Given the description of an element on the screen output the (x, y) to click on. 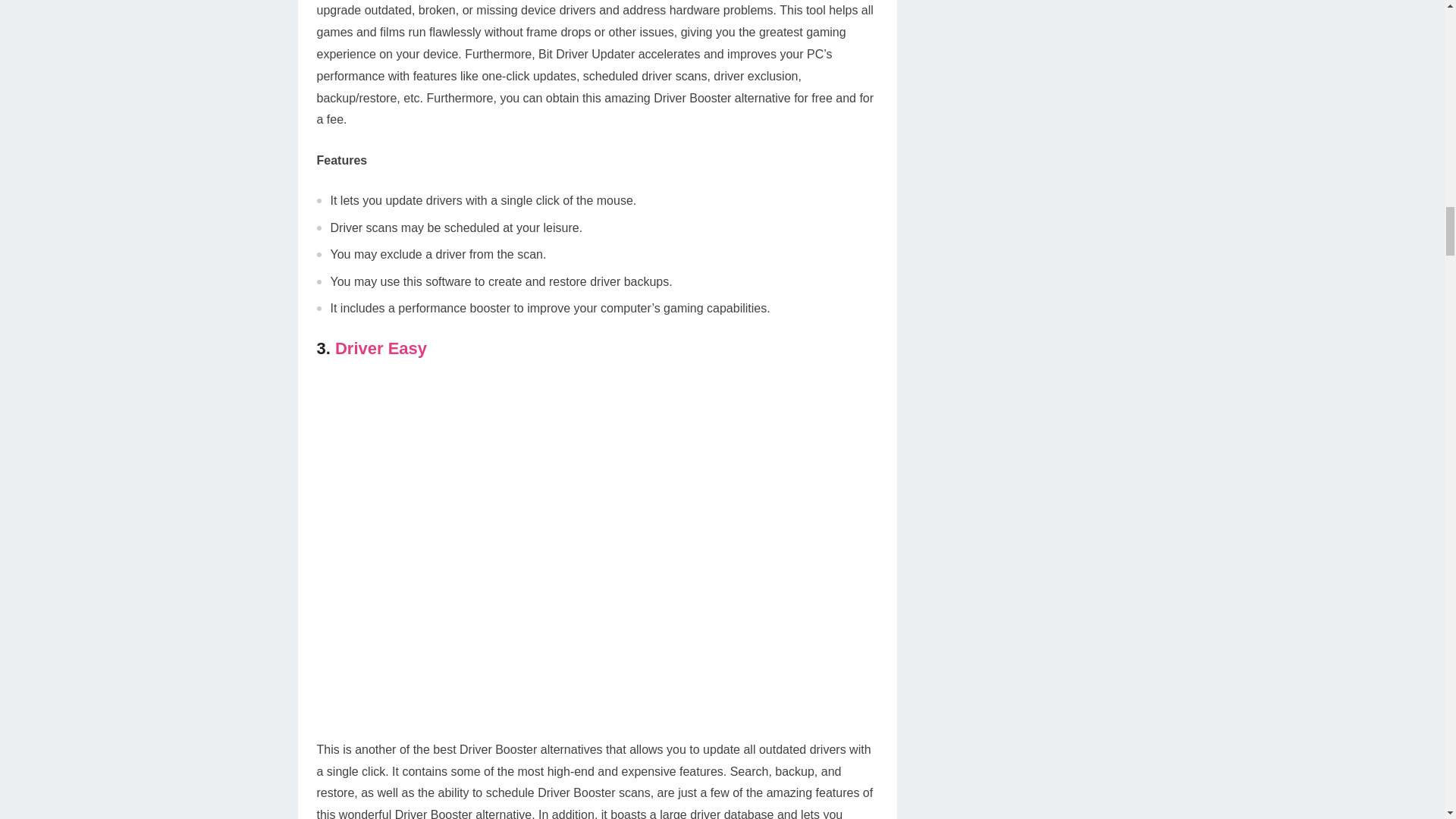
Driver Easy (380, 348)
